Given the description of an element on the screen output the (x, y) to click on. 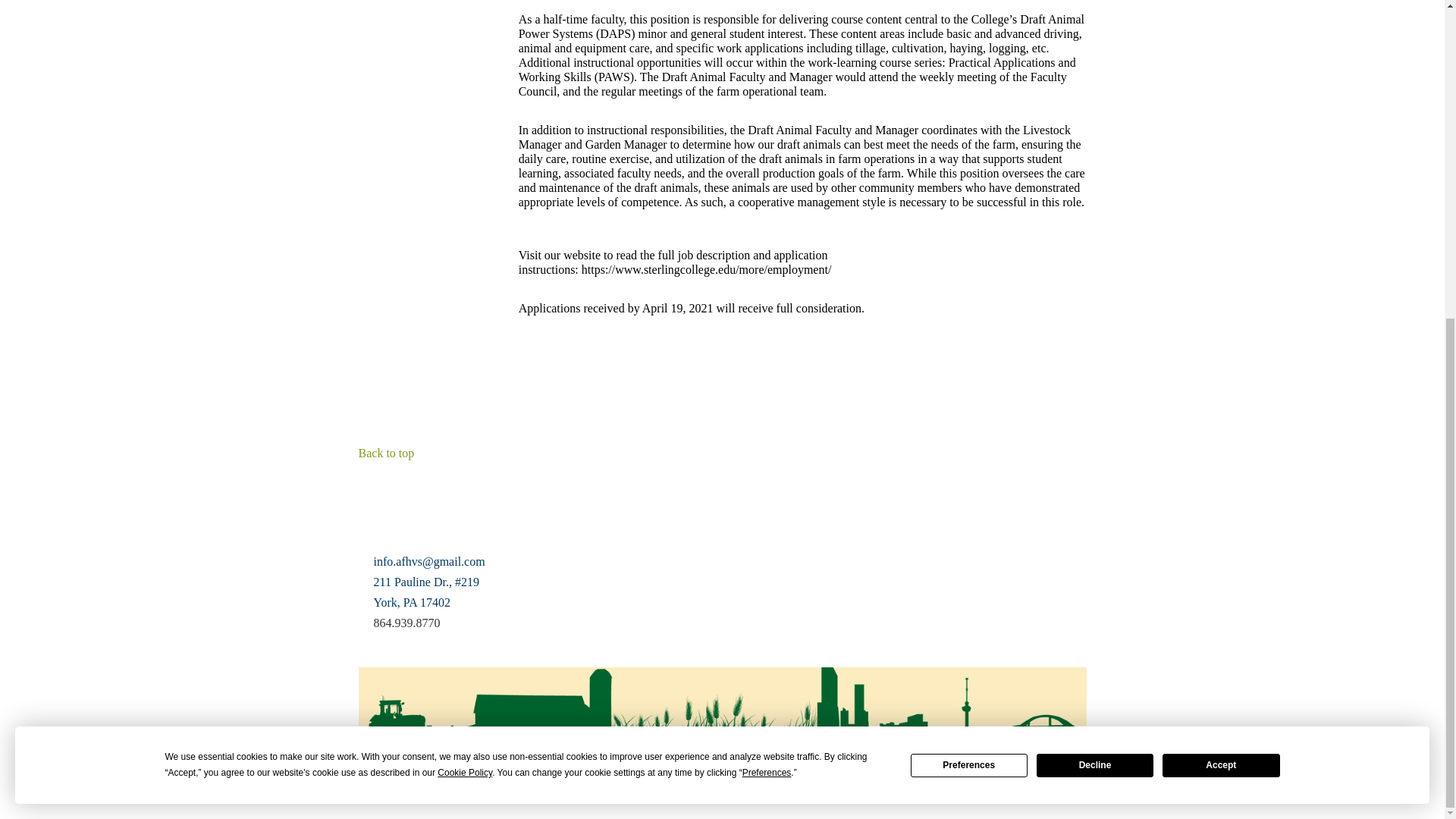
Decline (1094, 250)
Preferences (969, 250)
Accept (1220, 250)
